Given the description of an element on the screen output the (x, y) to click on. 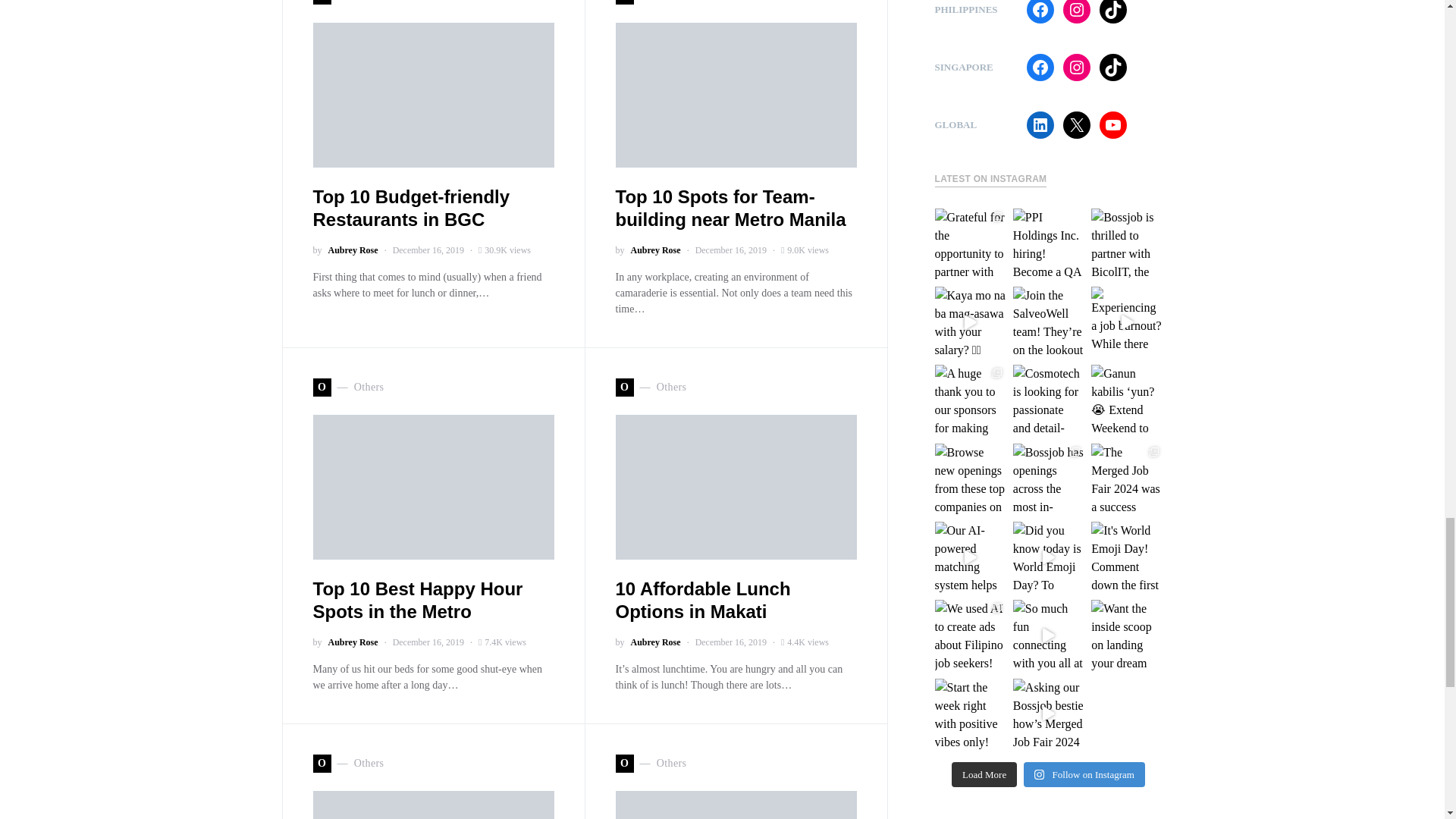
View all posts by Aubrey Rose (655, 642)
View all posts by Aubrey Rose (352, 250)
View all posts by Aubrey Rose (352, 642)
View all posts by Aubrey Rose (655, 250)
